Given the description of an element on the screen output the (x, y) to click on. 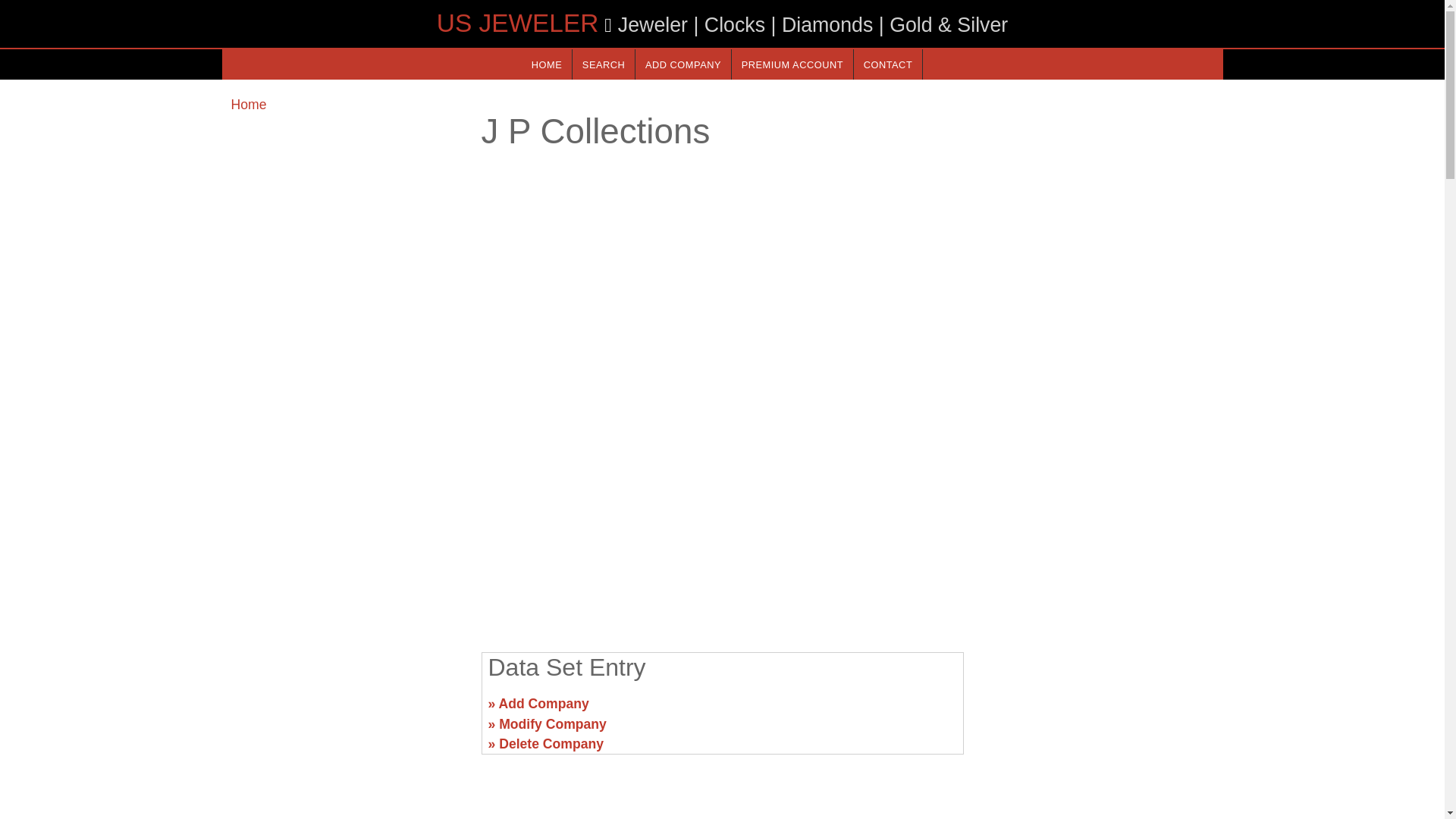
SEARCH (603, 64)
US JEWELER (517, 22)
Add a new company (682, 64)
Premium account (792, 64)
Advertisement (1096, 710)
Search in this webseite. (603, 64)
Advertisement (721, 522)
HOME (546, 64)
Advertisement (346, 710)
ADD COMPANY (682, 64)
